Given the description of an element on the screen output the (x, y) to click on. 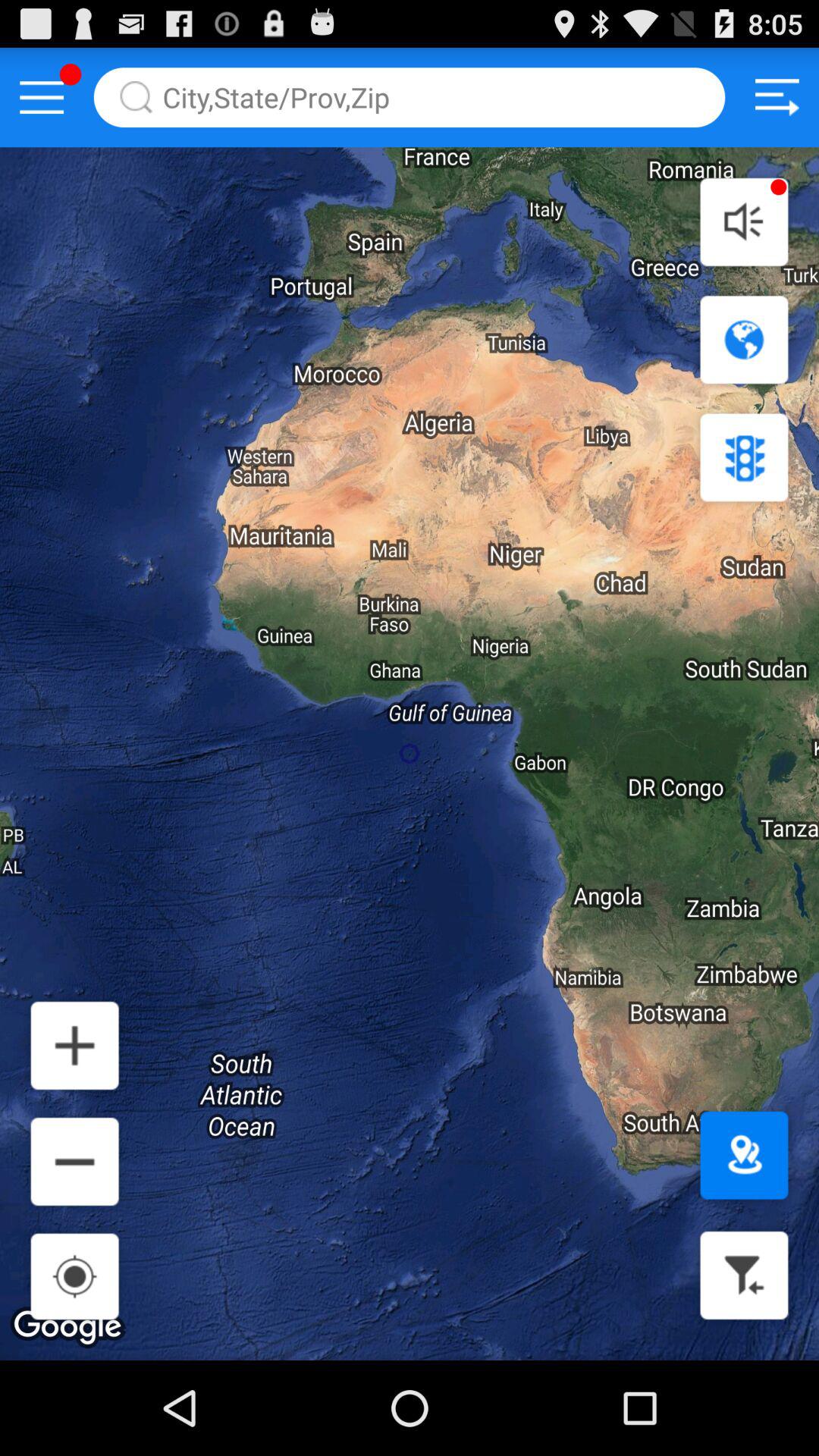
navigation icon (744, 339)
